Given the description of an element on the screen output the (x, y) to click on. 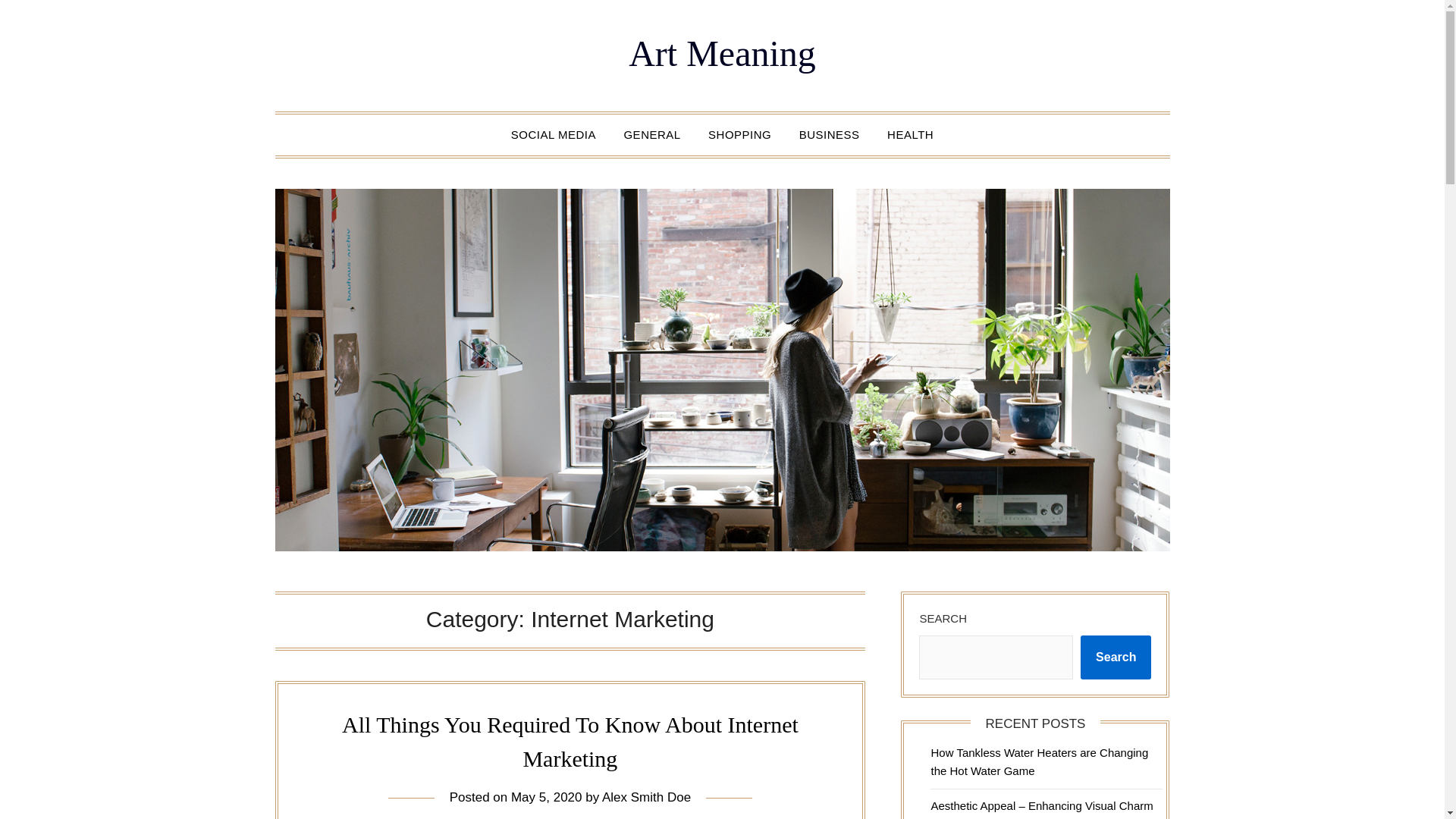
HEALTH (909, 134)
Art Meaning (721, 53)
SOCIAL MEDIA (553, 134)
Alex Smith Doe (646, 797)
All Things You Required To Know About Internet Marketing (569, 741)
Search (1115, 657)
How Tankless Water Heaters are Changing the Hot Water Game (1039, 761)
GENERAL (652, 134)
SHOPPING (739, 134)
May 5, 2020 (546, 797)
BUSINESS (829, 134)
